Given the description of an element on the screen output the (x, y) to click on. 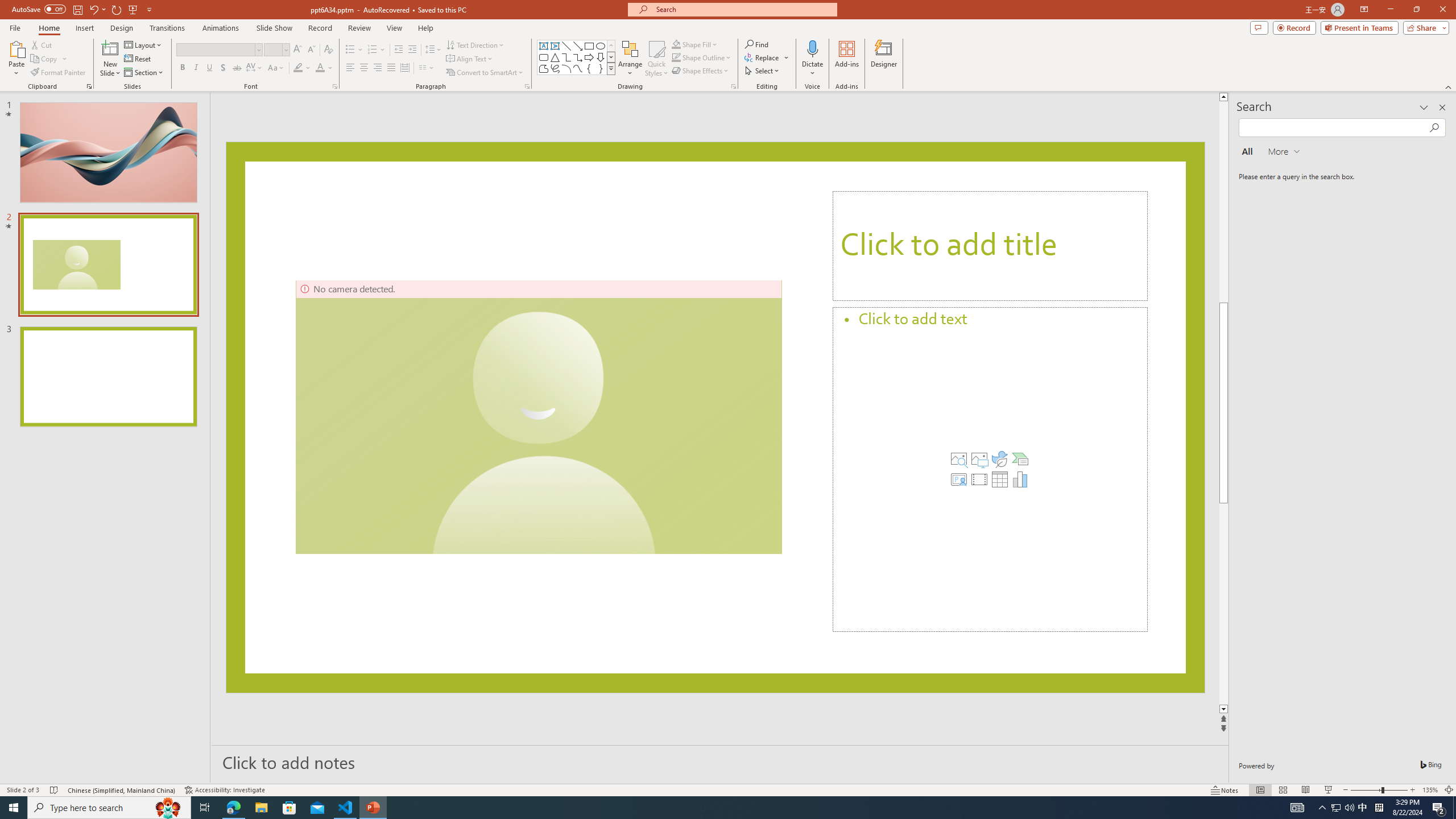
Font (219, 49)
Replace... (762, 56)
AutomationID: ShapesInsertGallery (576, 57)
Font (215, 49)
Convert to SmartArt (485, 72)
Left Brace (589, 68)
Accessibility Checker Accessibility: Investigate (224, 790)
Slide (108, 376)
Insert an Icon (999, 458)
Decrease Font Size (310, 49)
Align Left (349, 67)
From Beginning (133, 9)
Quick Access Toolbar (82, 9)
